Given the description of an element on the screen output the (x, y) to click on. 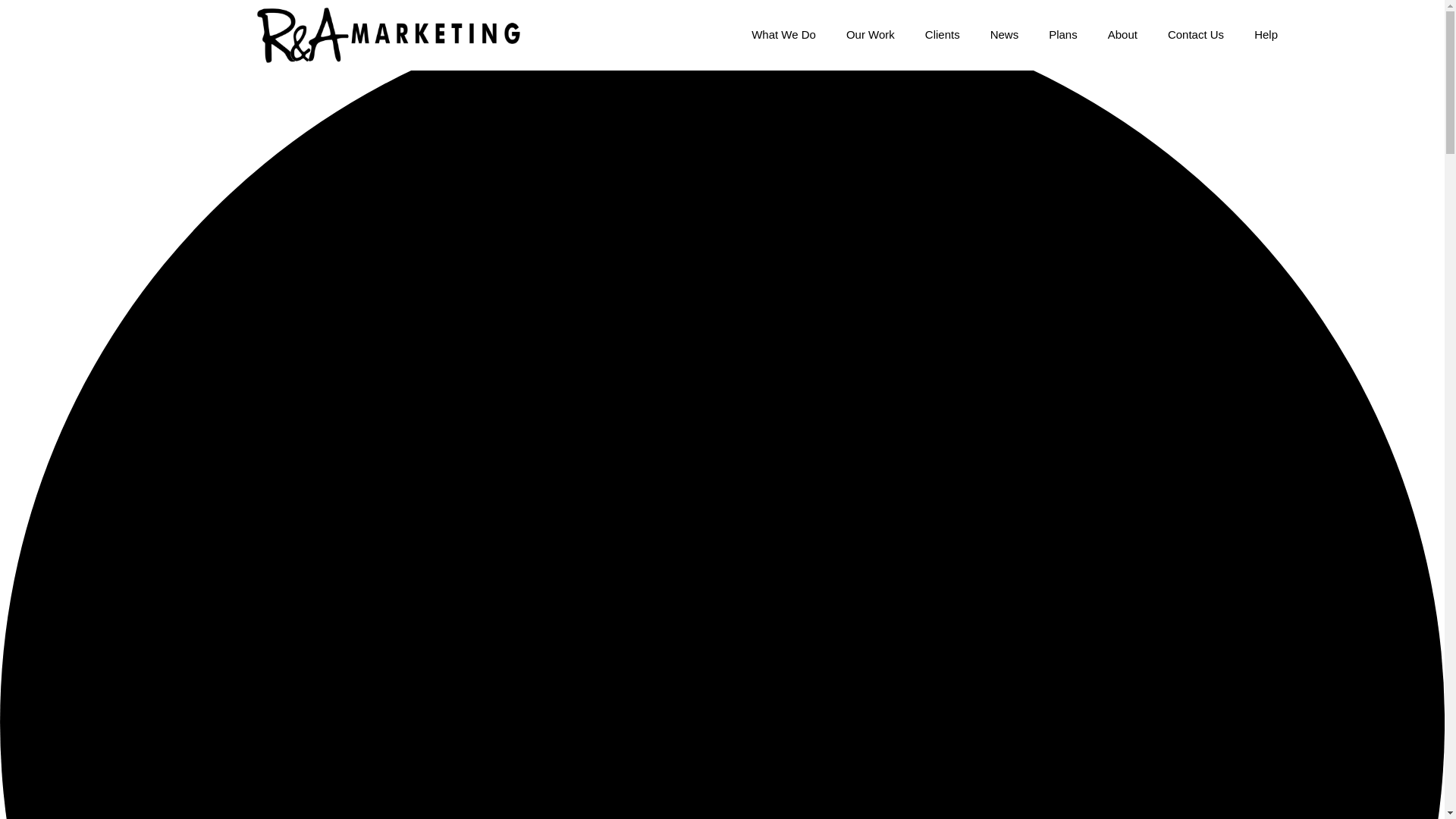
What We Do (783, 34)
Contact Us (1196, 34)
About (1123, 34)
Our Work (870, 34)
Plans (1063, 34)
Clients (942, 34)
News (1004, 34)
